Given the description of an element on the screen output the (x, y) to click on. 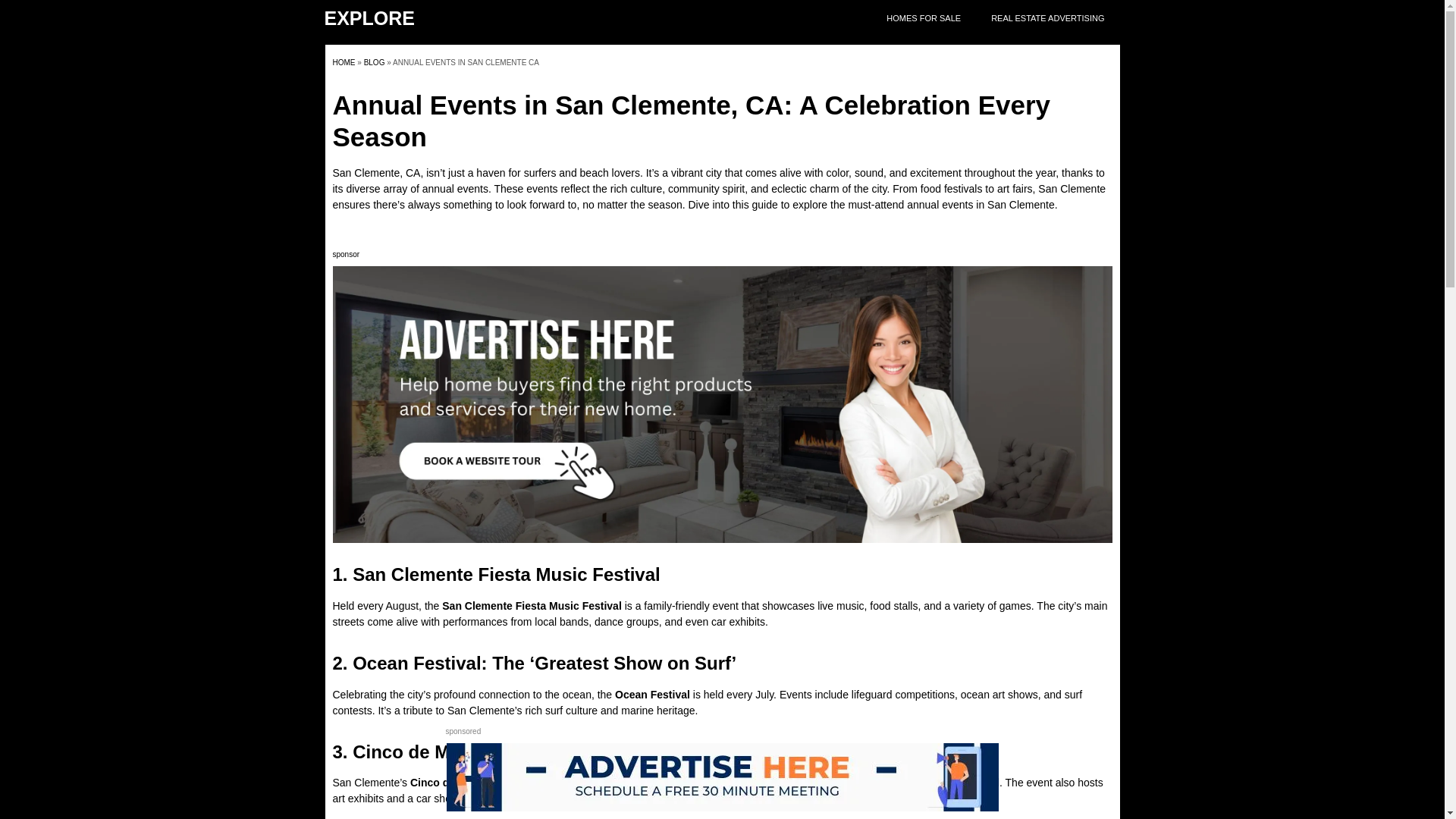
HOME (343, 62)
BLOG (374, 62)
EXPLORE (369, 17)
REAL ESTATE ADVERTISING (1047, 18)
HOMES FOR SALE (922, 18)
